Given the description of an element on the screen output the (x, y) to click on. 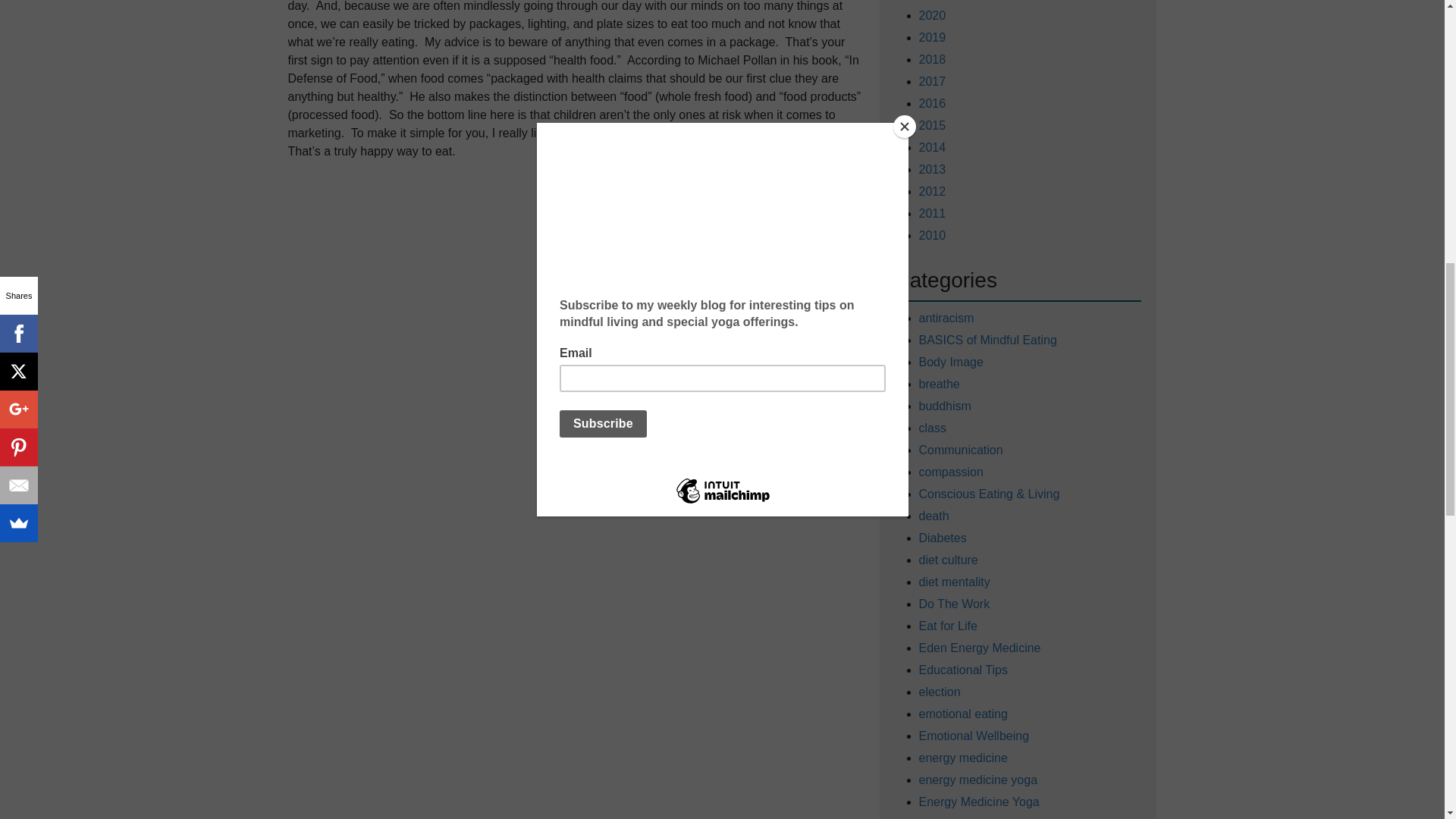
2011 (932, 212)
2013 (932, 168)
2020 (932, 15)
2015 (932, 124)
2017 (932, 80)
2018 (932, 59)
antiracism (946, 318)
2019 (932, 36)
breathe (938, 383)
2016 (932, 103)
Body Image (951, 361)
2012 (932, 191)
2010 (932, 235)
buddhism (944, 405)
BASICS of Mindful Eating (987, 339)
